Given the description of an element on the screen output the (x, y) to click on. 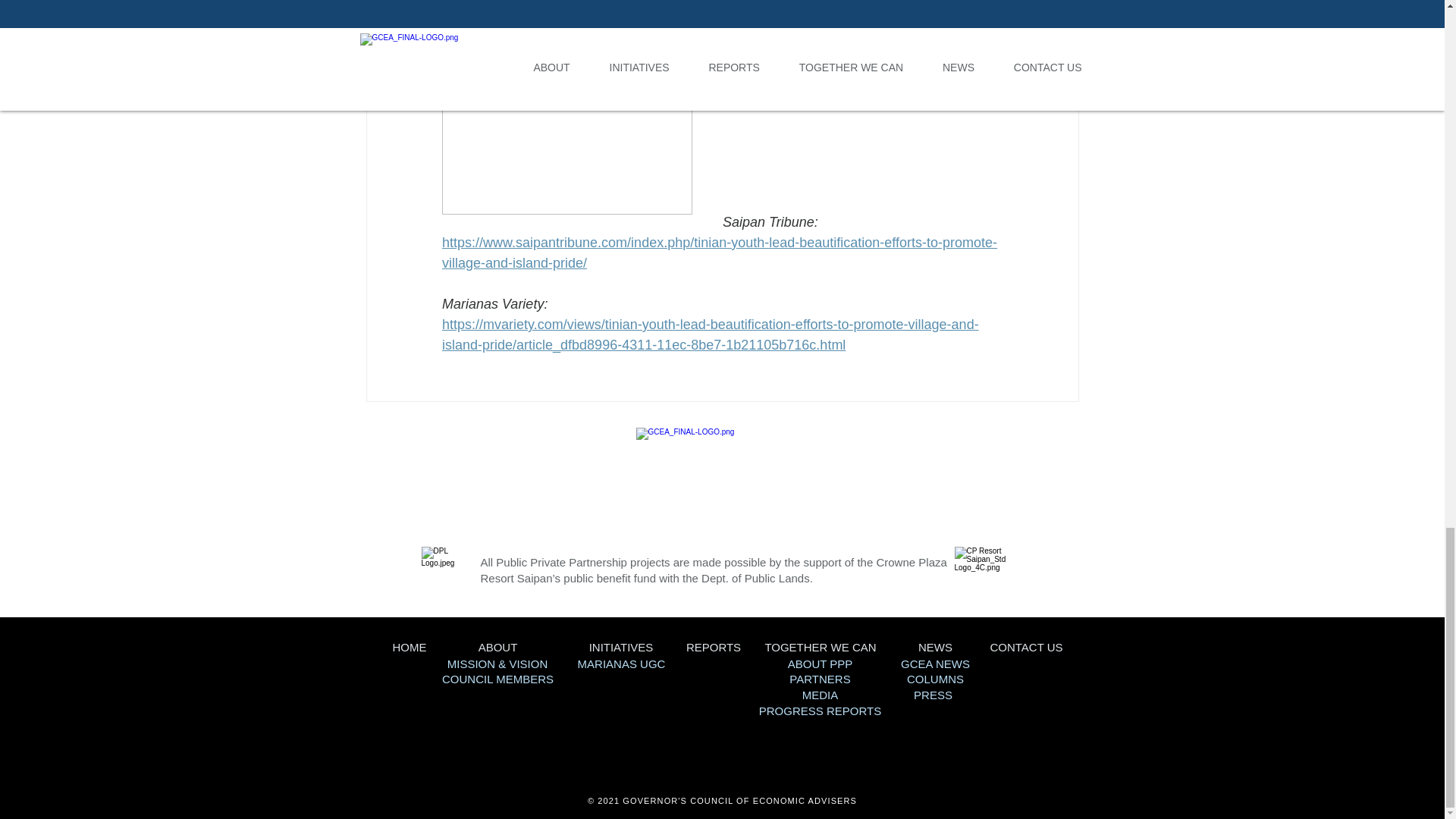
PARTNERS (819, 678)
CONTACT US (1026, 646)
COLUMNS (935, 678)
HOME (409, 646)
PROGRESS REPORTS (819, 710)
REPORTS (713, 646)
GCEA NEWS (935, 663)
INITIATIVES (621, 646)
PRESS (933, 694)
MEDIA (820, 694)
